Given the description of an element on the screen output the (x, y) to click on. 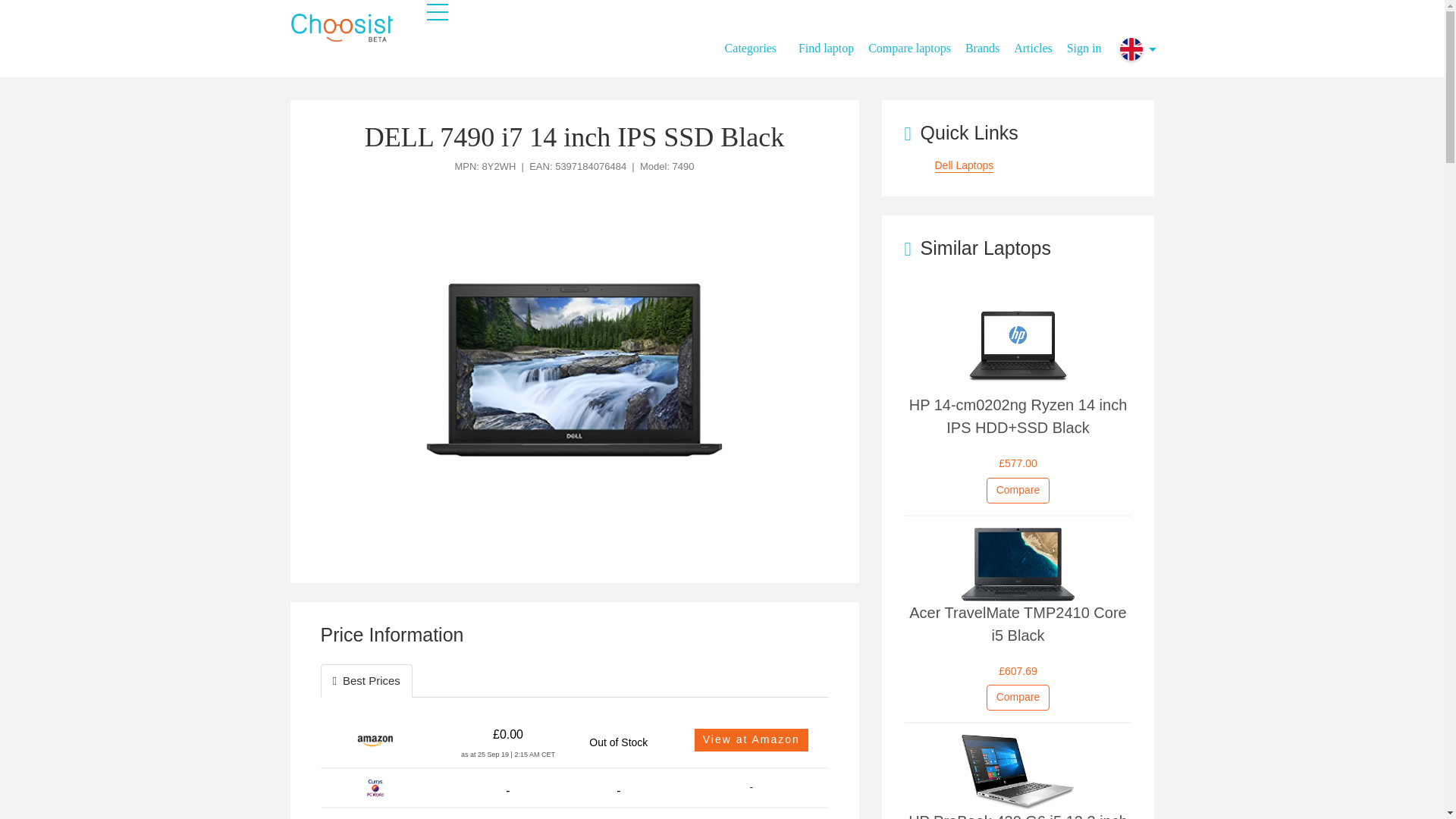
Best Prices (366, 680)
Compare laptops (914, 41)
Brands (987, 41)
Compare (1018, 490)
United Kingdom (1130, 48)
Sign in (1084, 41)
Articles (1038, 41)
Compare (1018, 697)
Find laptop (830, 41)
Dell Laptops (963, 165)
